Given the description of an element on the screen output the (x, y) to click on. 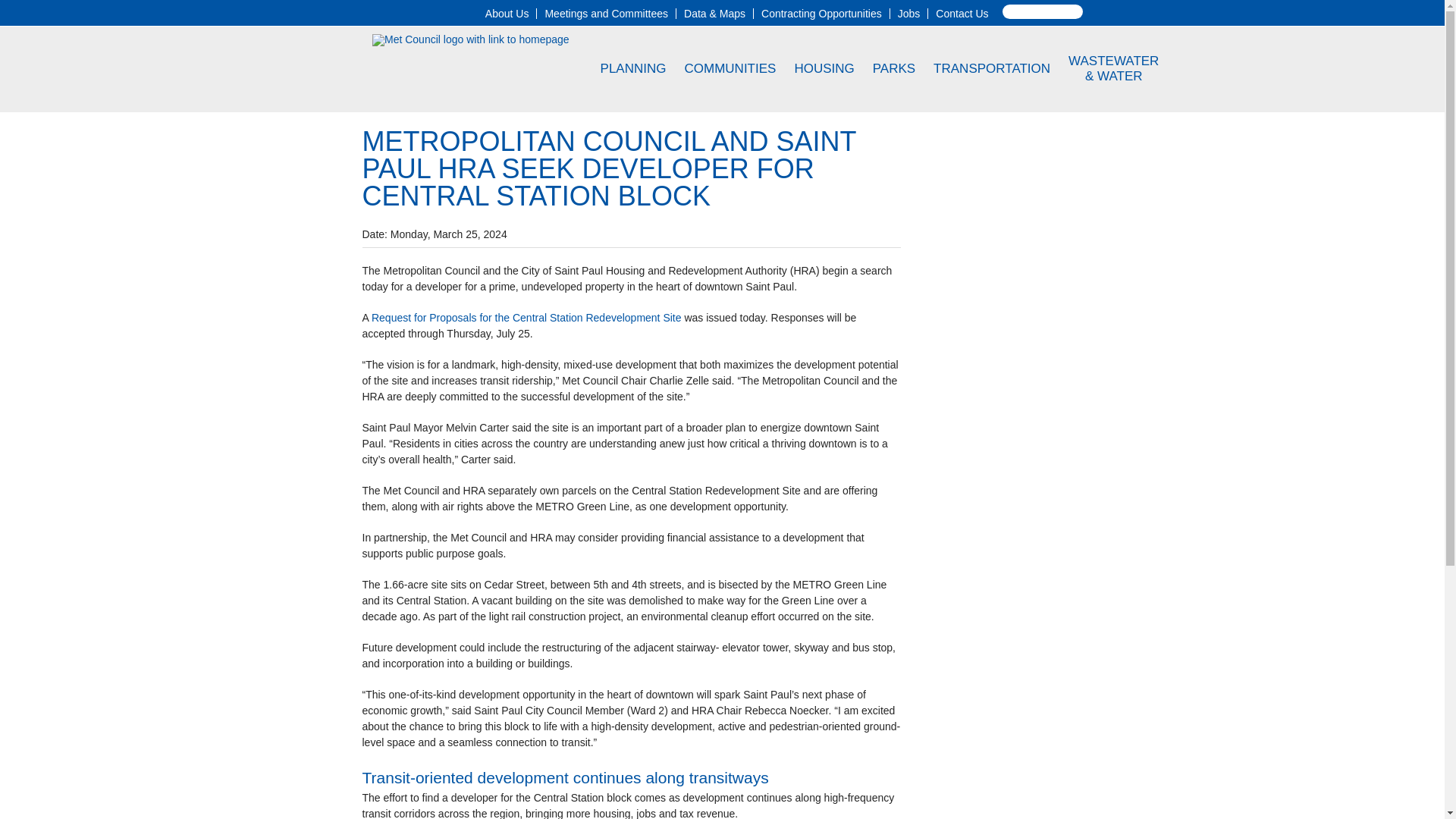
About Us (506, 13)
COMMUNITIES (731, 69)
Meetings and Committees (606, 13)
Jobs (909, 13)
Contact Us (962, 13)
HOUSING (824, 69)
Search (29, 7)
PLANNING (633, 69)
Contracting Opportunities (821, 13)
Search Box (1043, 11)
